Given the description of an element on the screen output the (x, y) to click on. 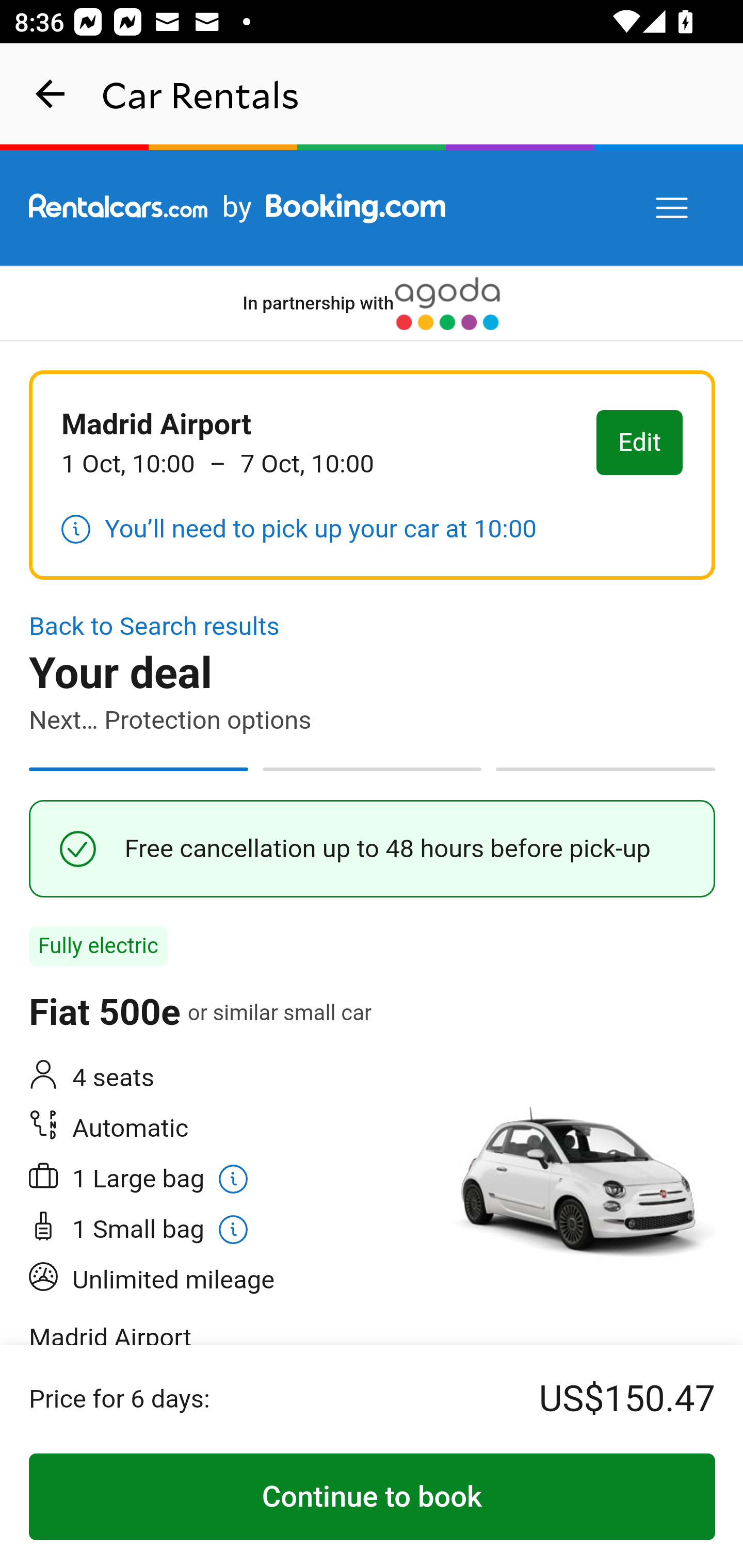
navigation_button (50, 93)
Menu (672, 208)
Edit (639, 443)
You’ll need to pick up your car at 10:00 (299, 529)
4 seats (226, 1077)
Automatic (226, 1128)
1 Large bag (226, 1178)
1 Large bag (160, 1178)
1 Small bag (226, 1230)
1 Small bag (160, 1230)
Unlimited mileage (226, 1280)
Continue to book (372, 1497)
